Given the description of an element on the screen output the (x, y) to click on. 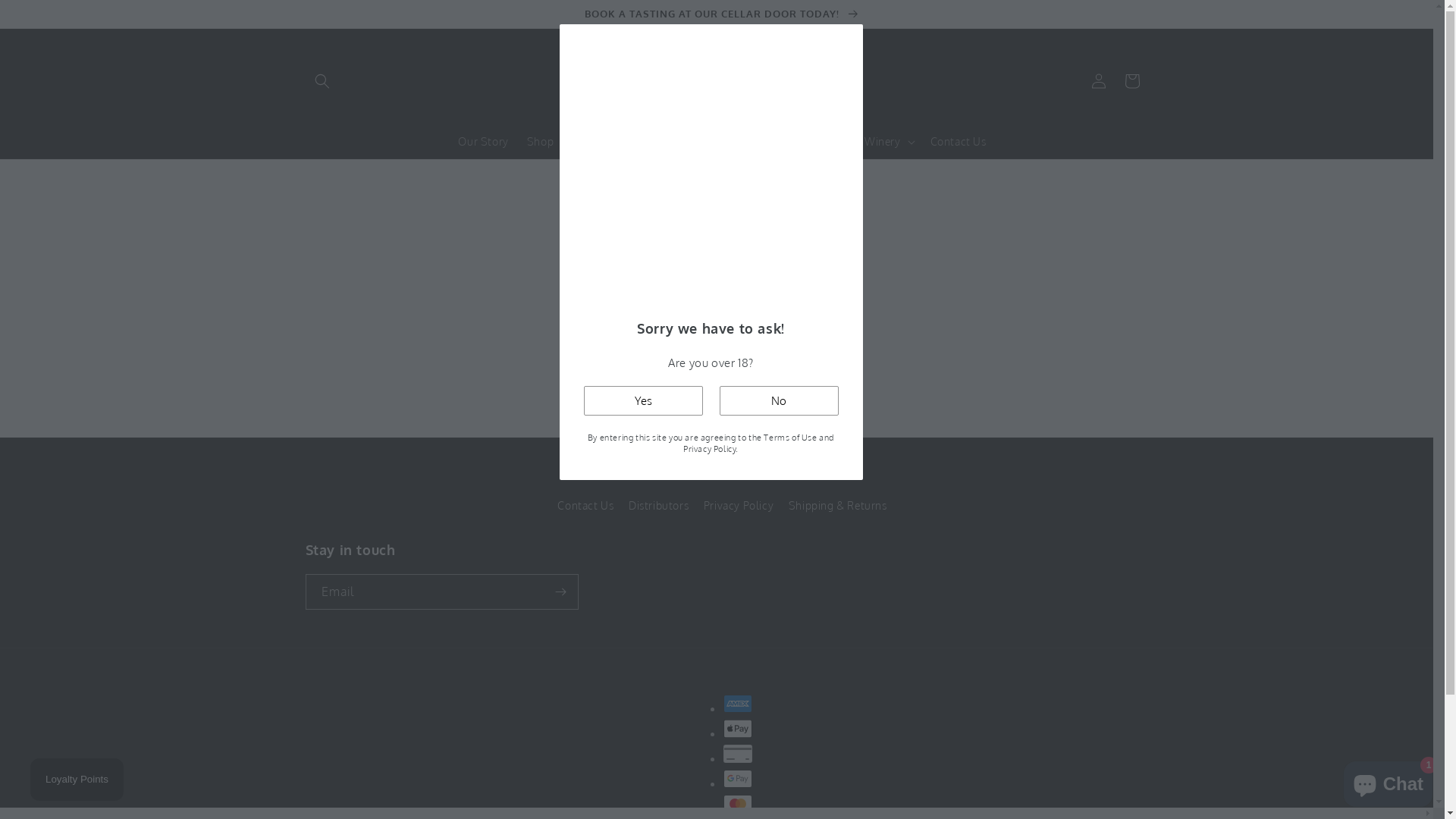
Contact Us Element type: text (958, 141)
Yes Element type: text (642, 400)
No Element type: text (777, 400)
Shopify online store chat Element type: hover (1388, 780)
Log in Element type: text (1097, 80)
Contact Us Element type: text (585, 506)
Distributors Element type: text (658, 505)
Shipping & Returns Element type: text (837, 505)
Loyalty Points Element type: text (76, 779)
Continue shopping Element type: text (721, 366)
News Element type: text (811, 141)
BOOK A TASTING AT OUR CELLAR DOOR TODAY! Element type: text (722, 14)
Privacy Policy Element type: text (738, 505)
Our Story Element type: text (482, 141)
Cart Element type: text (1131, 80)
